Given the description of an element on the screen output the (x, y) to click on. 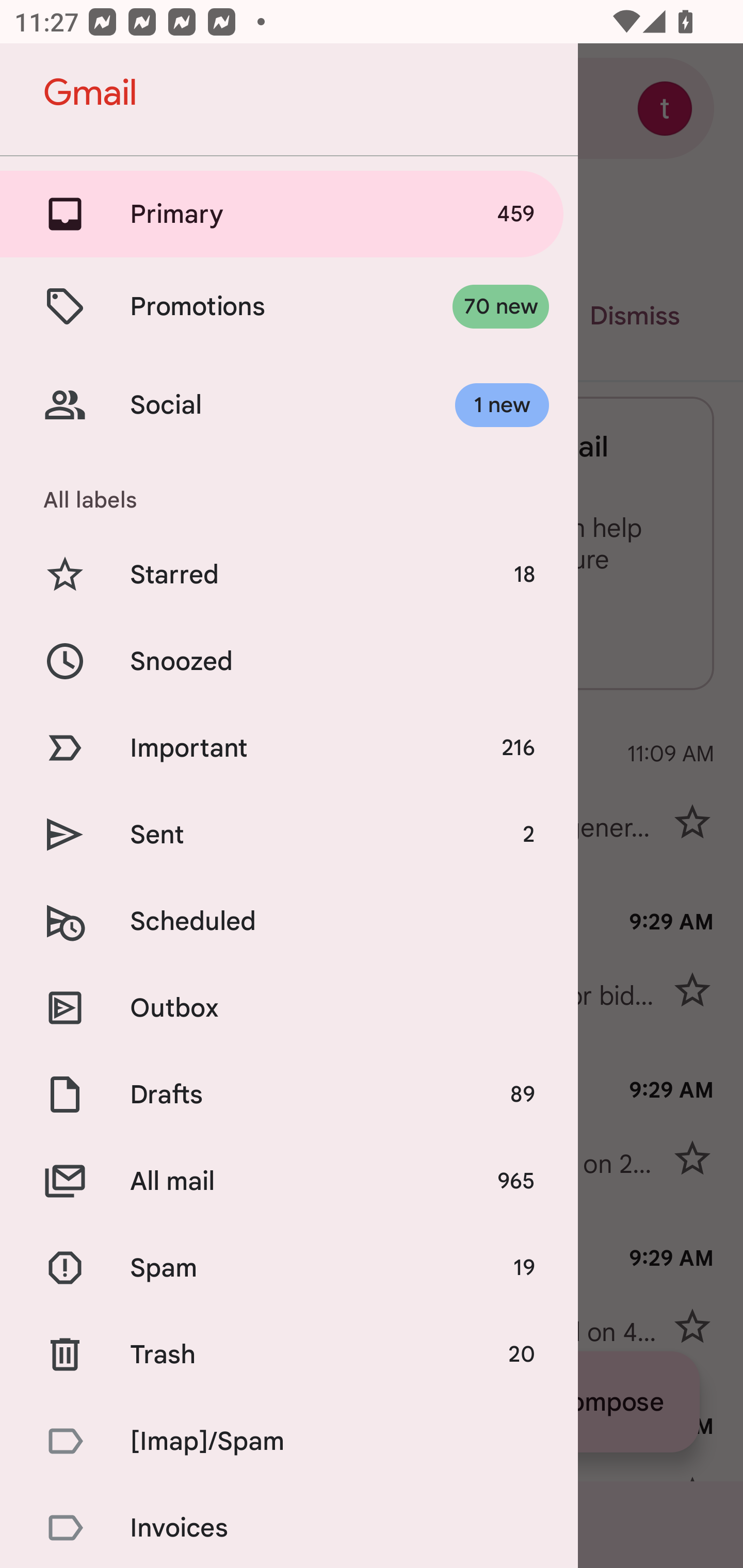
Primary 459 (289, 213)
Promotions 70 new (289, 306)
Social 1 new (289, 404)
Starred 18 (289, 574)
Snoozed (289, 660)
Important 216 (289, 747)
Sent 2 (289, 834)
Scheduled (289, 921)
Outbox (289, 1007)
Drafts 89 (289, 1094)
All mail 965 (289, 1181)
Spam 19 (289, 1267)
Trash 20 (289, 1353)
[Imap]/Spam (289, 1440)
Invoices (289, 1526)
